Given the description of an element on the screen output the (x, y) to click on. 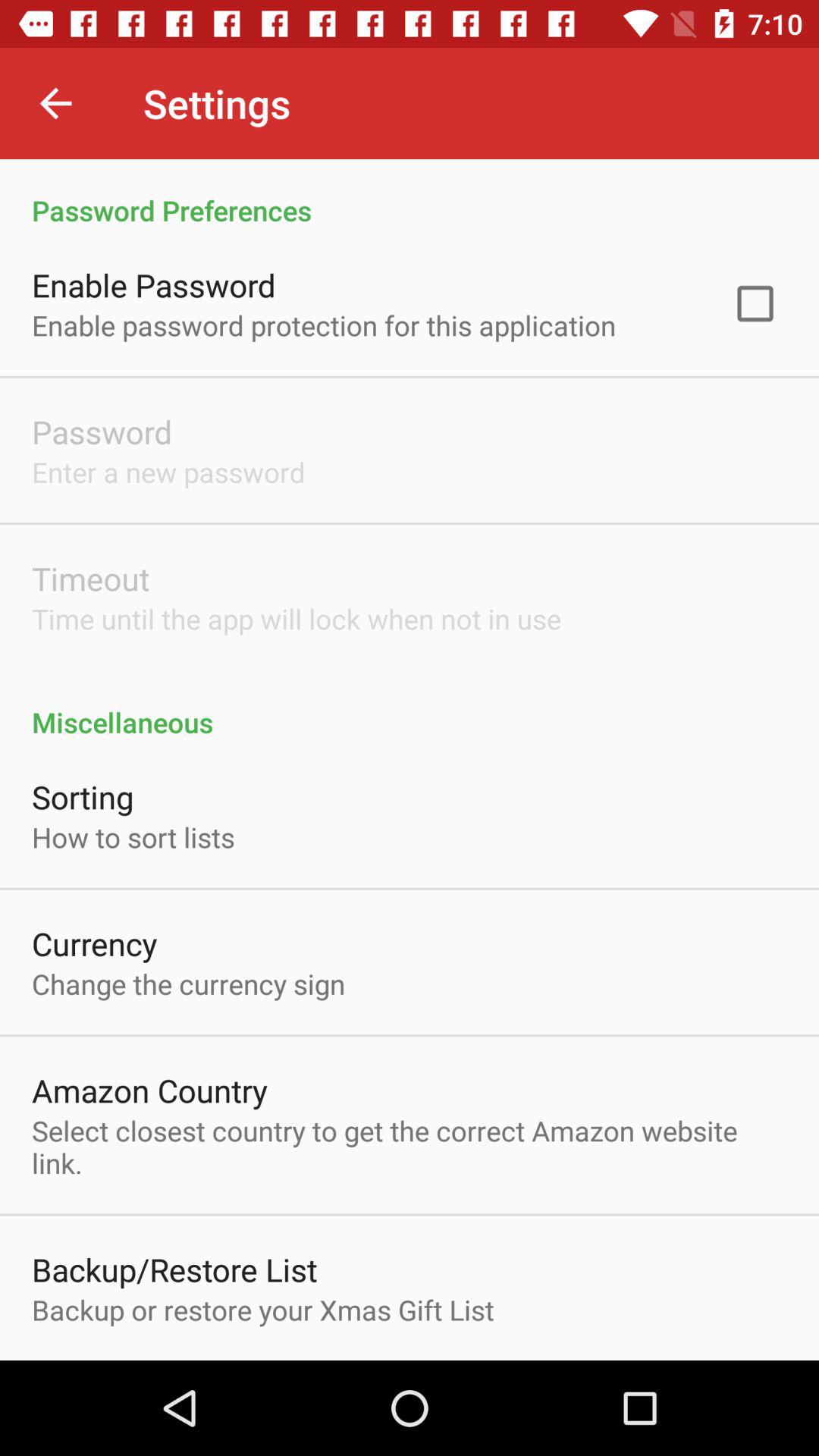
select the icon above enable password (409, 194)
